Given the description of an element on the screen output the (x, y) to click on. 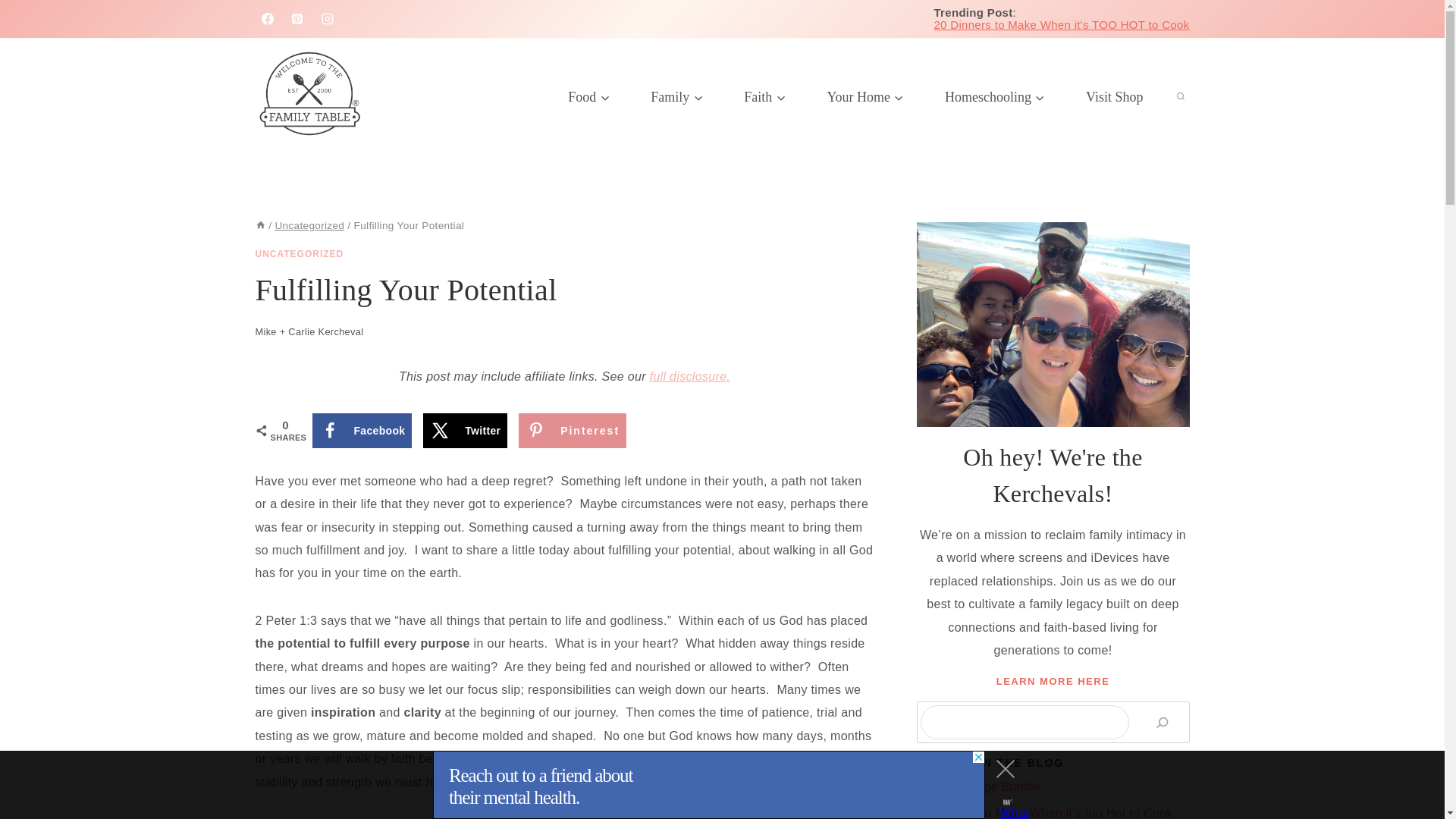
Share on X (464, 430)
3rd party ad content (708, 785)
Share on Facebook (362, 430)
Save to Pinterest (572, 430)
Family (676, 96)
Home (259, 225)
20 Dinners to Make When it's TOO HOT to Cook (1061, 24)
Food (588, 96)
